Given the description of an element on the screen output the (x, y) to click on. 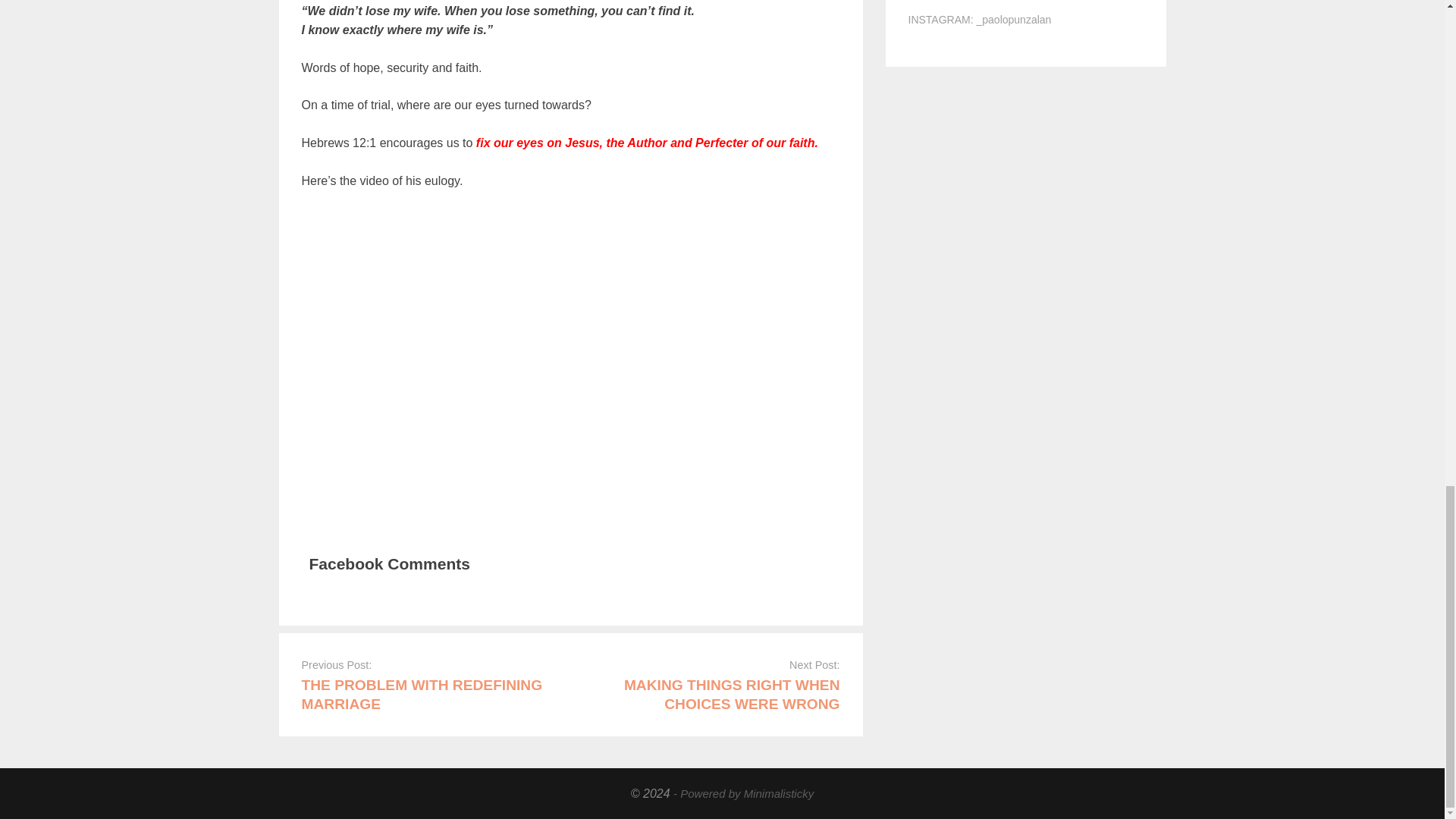
- Powered by Minimalisticky (742, 793)
THE PROBLEM WITH REDEFINING MARRIAGE (422, 694)
MAKING THINGS RIGHT WHEN CHOICES WERE WRONG (732, 694)
